Given the description of an element on the screen output the (x, y) to click on. 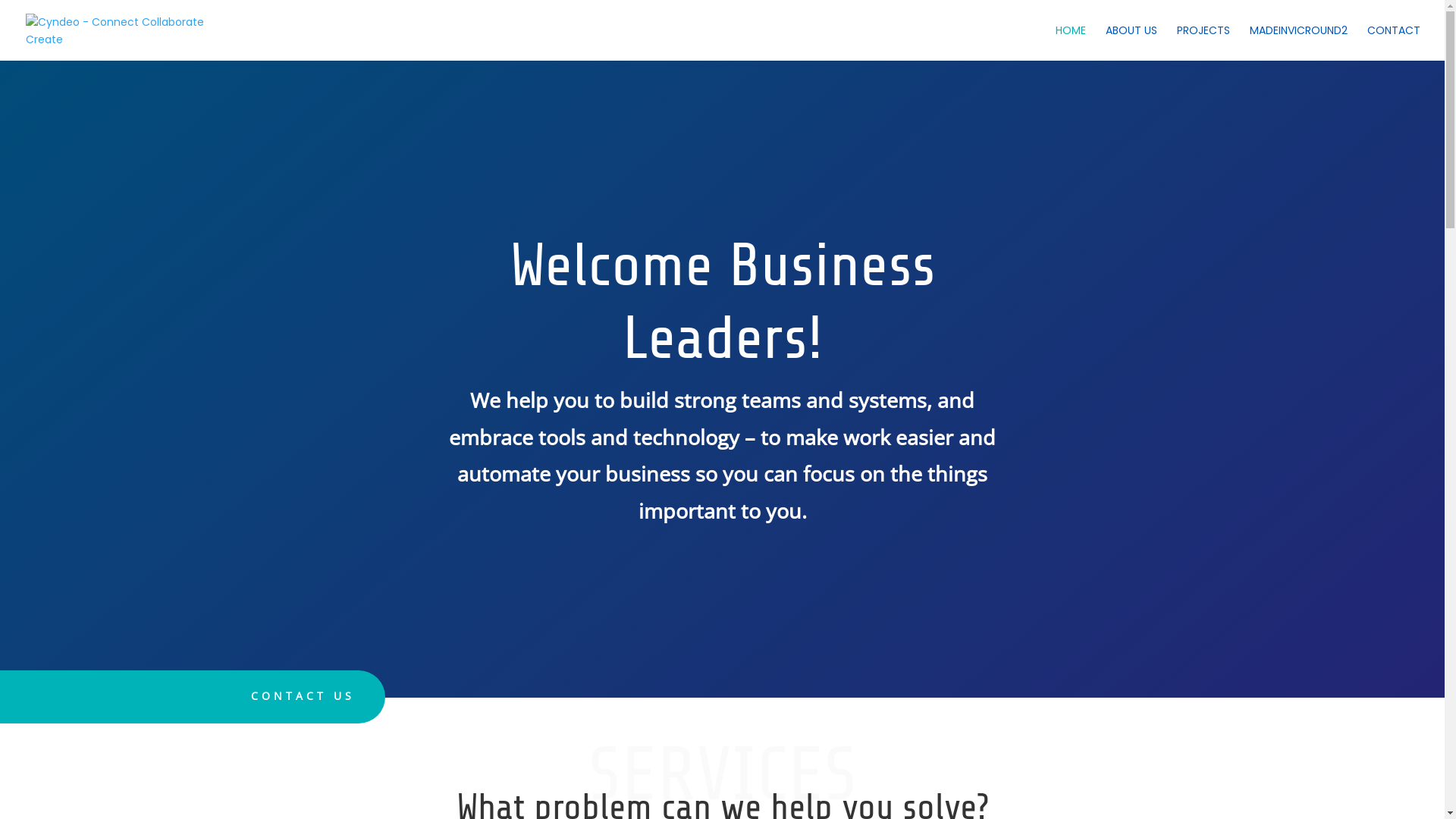
MADEINVICROUND2 Element type: text (1298, 42)
PROJECTS Element type: text (1203, 42)
CONTACT US Element type: text (302, 695)
CONTACT Element type: text (1393, 42)
HOME Element type: text (1070, 42)
ABOUT US Element type: text (1131, 42)
